Given the description of an element on the screen output the (x, y) to click on. 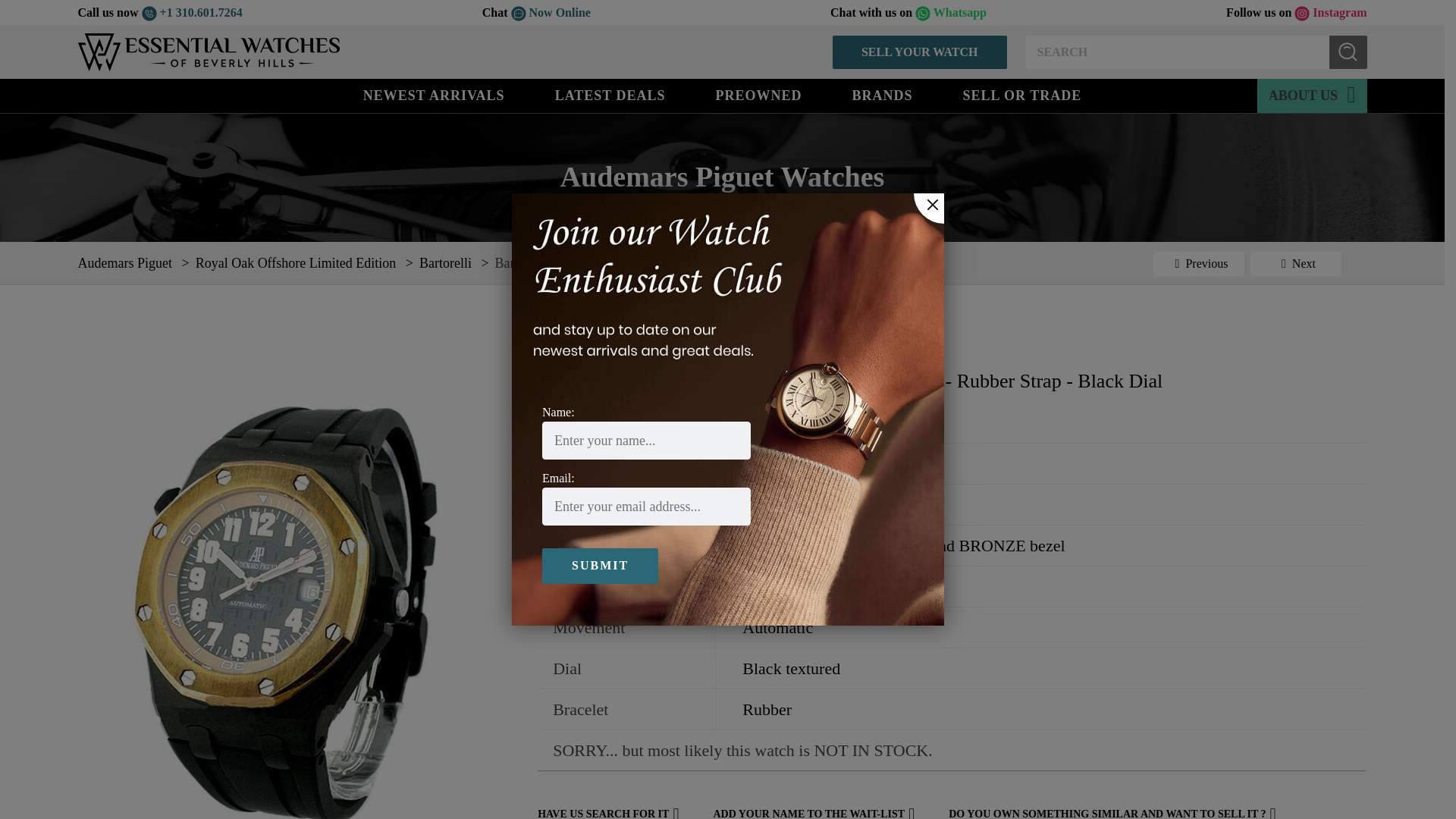
Instagram (1330, 11)
Now Online (551, 11)
SELL YOUR WATCH (919, 52)
LATEST DEALS (610, 95)
PREOWNED (759, 95)
BRANDS (882, 95)
Whatsapp (951, 11)
NEWEST ARRIVALS (433, 95)
SUBMIT (1347, 52)
